Given the description of an element on the screen output the (x, y) to click on. 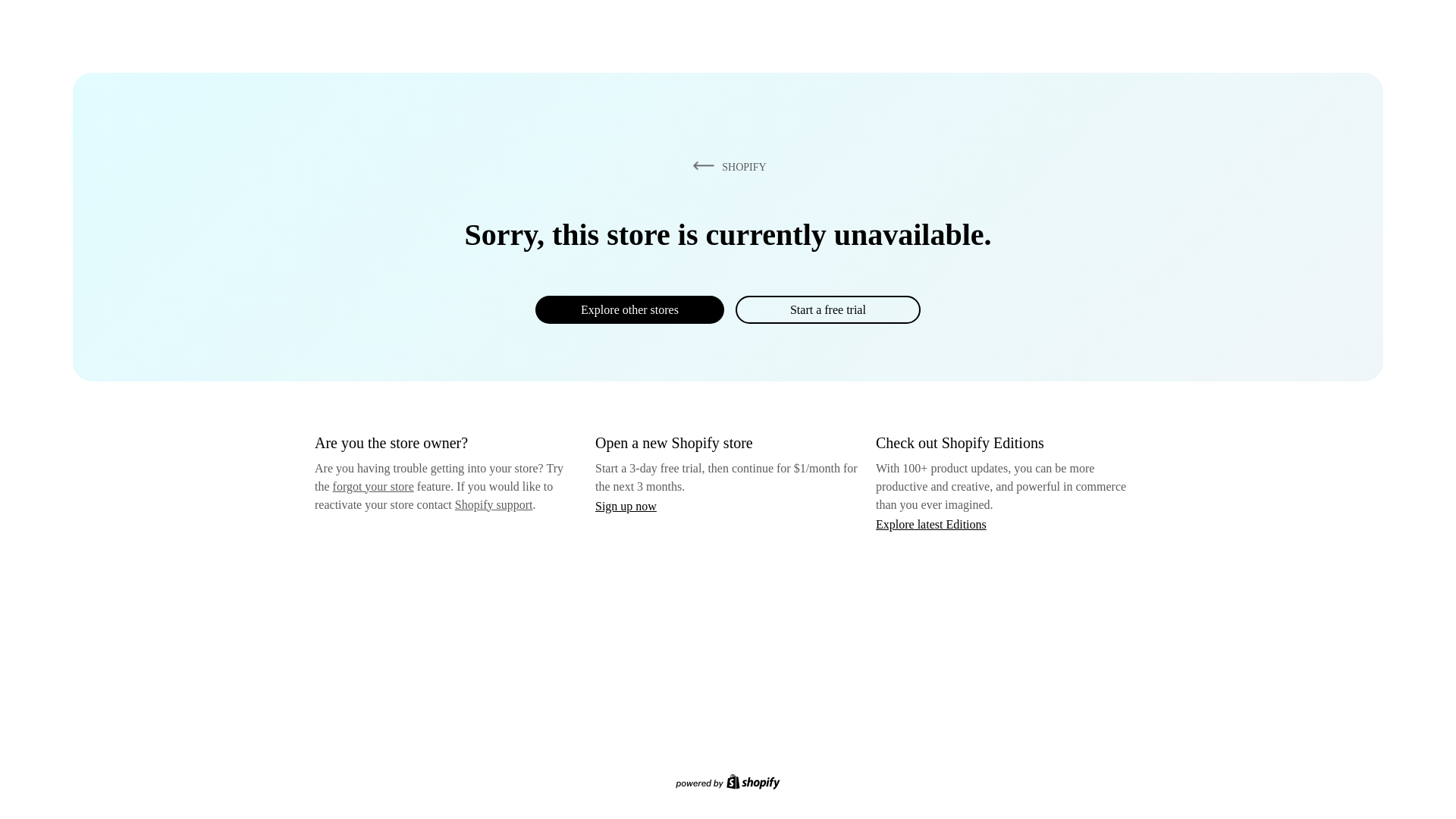
Start a free trial (827, 309)
Sign up now (625, 505)
Explore latest Editions (931, 523)
forgot your store (373, 486)
Explore other stores (629, 309)
Shopify support (493, 504)
SHOPIFY (726, 166)
